Given the description of an element on the screen output the (x, y) to click on. 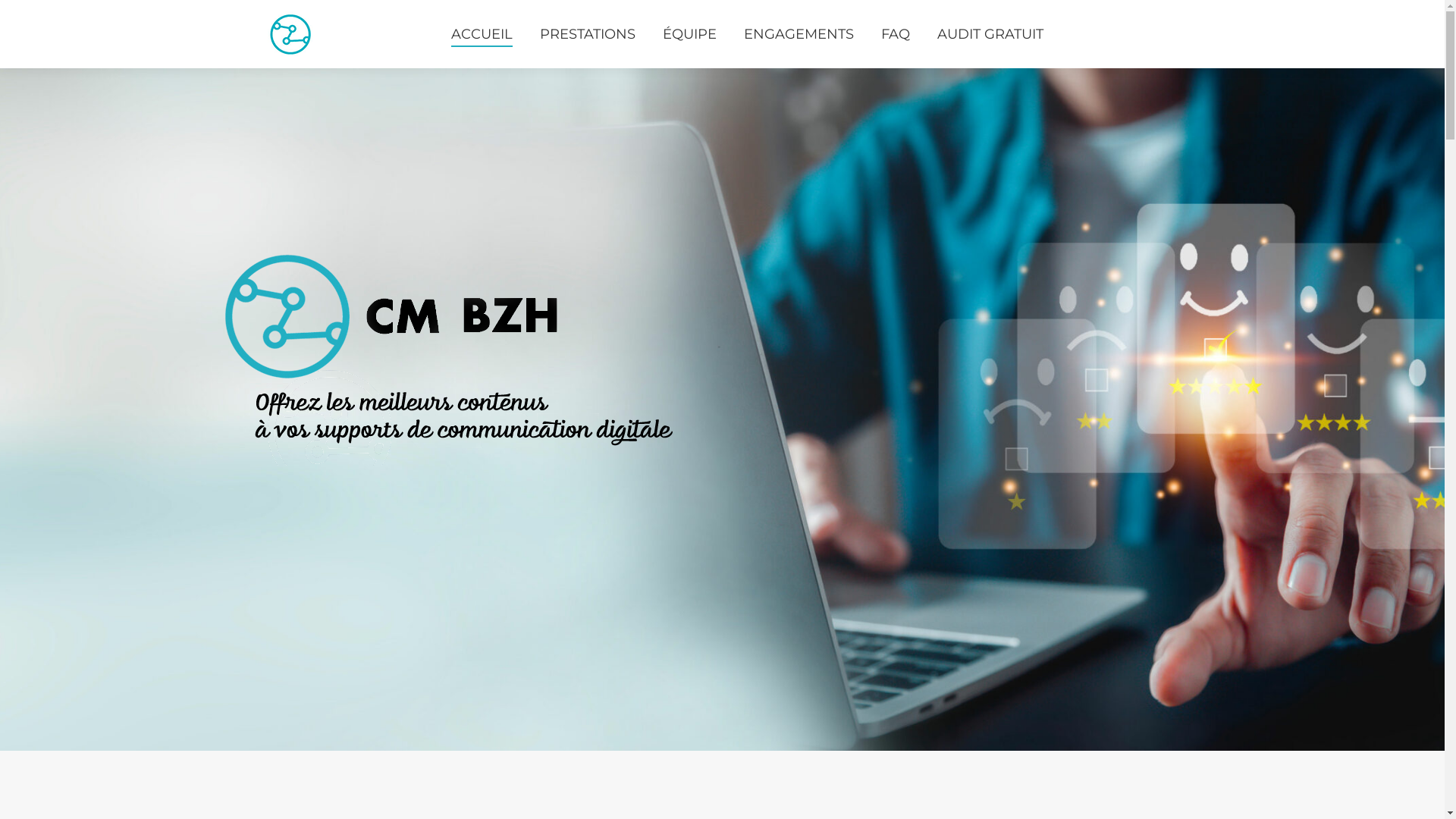
ENGAGEMENTS Element type: text (798, 33)
AUDIT GRATUIT Element type: text (990, 33)
PRESTATIONS Element type: text (587, 33)
FAQ Element type: text (895, 33)
ACCUEIL Element type: text (480, 33)
